Given the description of an element on the screen output the (x, y) to click on. 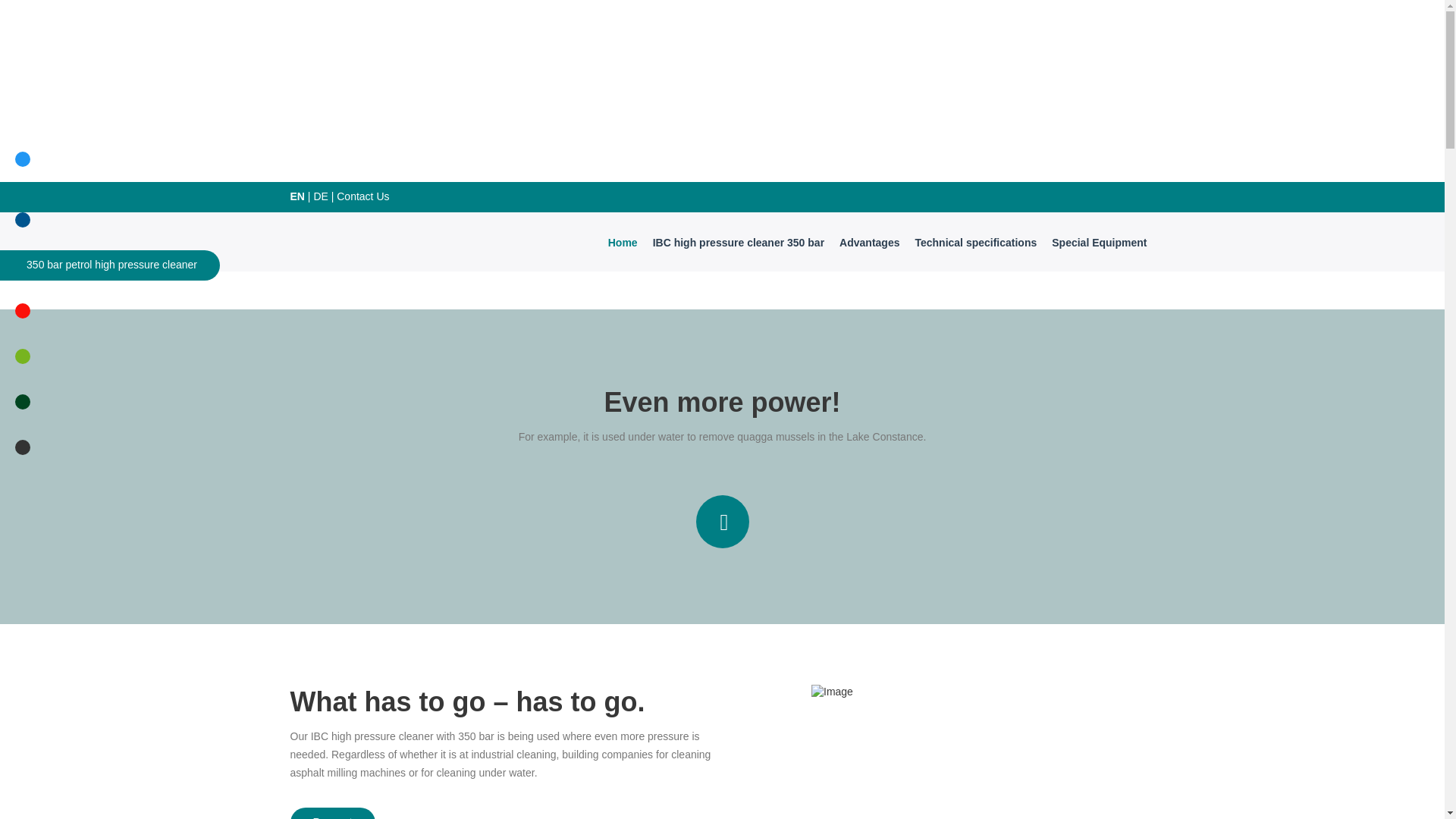
Special Equipment (1098, 242)
Advantages (869, 242)
DE (320, 196)
350 bar petrol high pressure cleaner (109, 265)
IBC high pressure cleaner 350 bar (738, 242)
Request (331, 813)
Contact Us (362, 196)
EN (296, 196)
Technical specifications (975, 242)
